Given the description of an element on the screen output the (x, y) to click on. 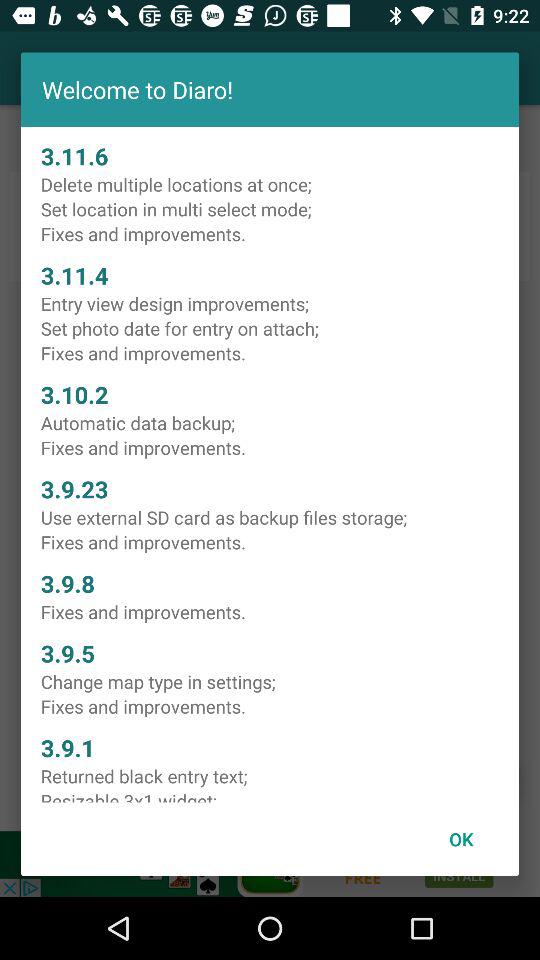
select ok item (461, 838)
